Given the description of an element on the screen output the (x, y) to click on. 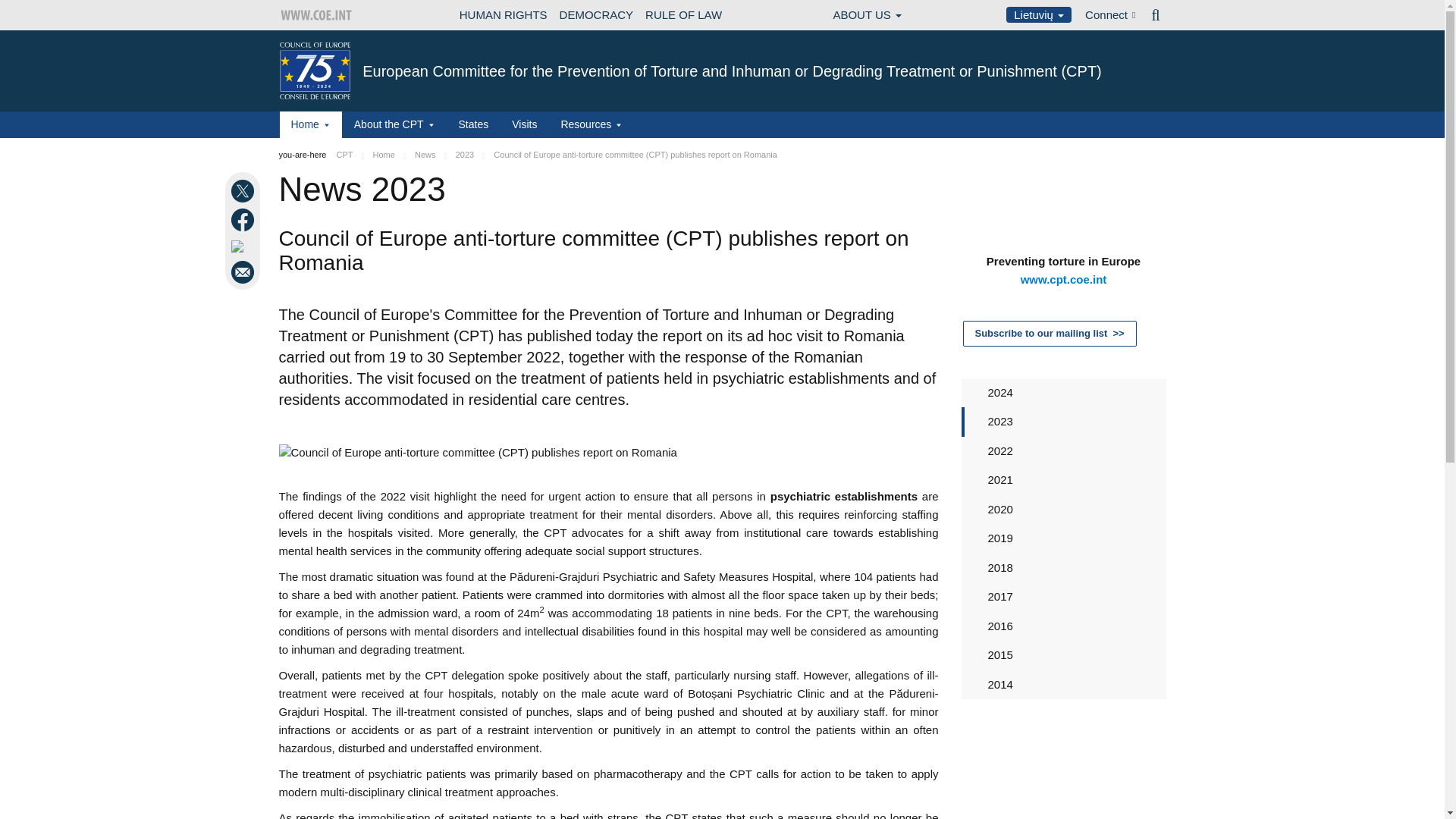
Share on Linkedin (244, 245)
ABOUT US (867, 15)
WWW.COE.INT (317, 15)
Send this page (244, 272)
Share on Facebook (244, 219)
DEMOCRACY (596, 15)
RULE OF LAW (683, 15)
HUMAN RIGHTS (502, 15)
